Given the description of an element on the screen output the (x, y) to click on. 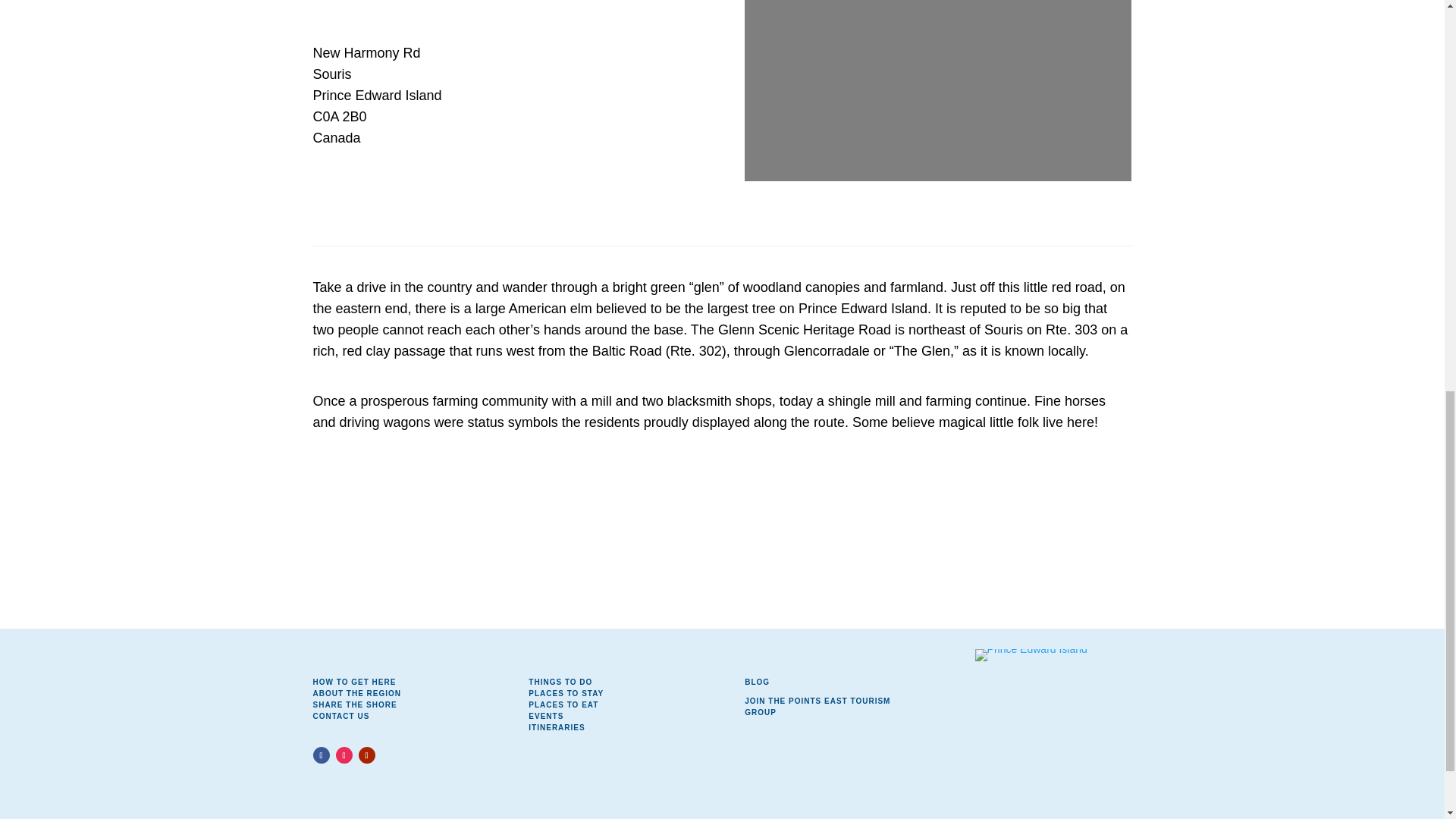
JOIN THE POINTS EAST TOURISM GROUP (816, 706)
THINGS TO DO (560, 682)
HOW TO GET HERE (354, 682)
Previous (342, 9)
Follow on Youtube (366, 754)
PLACES TO EAT (563, 705)
Next (671, 9)
Follow on Instagram (343, 754)
CONTACT US (341, 715)
BLOG (757, 682)
